Given the description of an element on the screen output the (x, y) to click on. 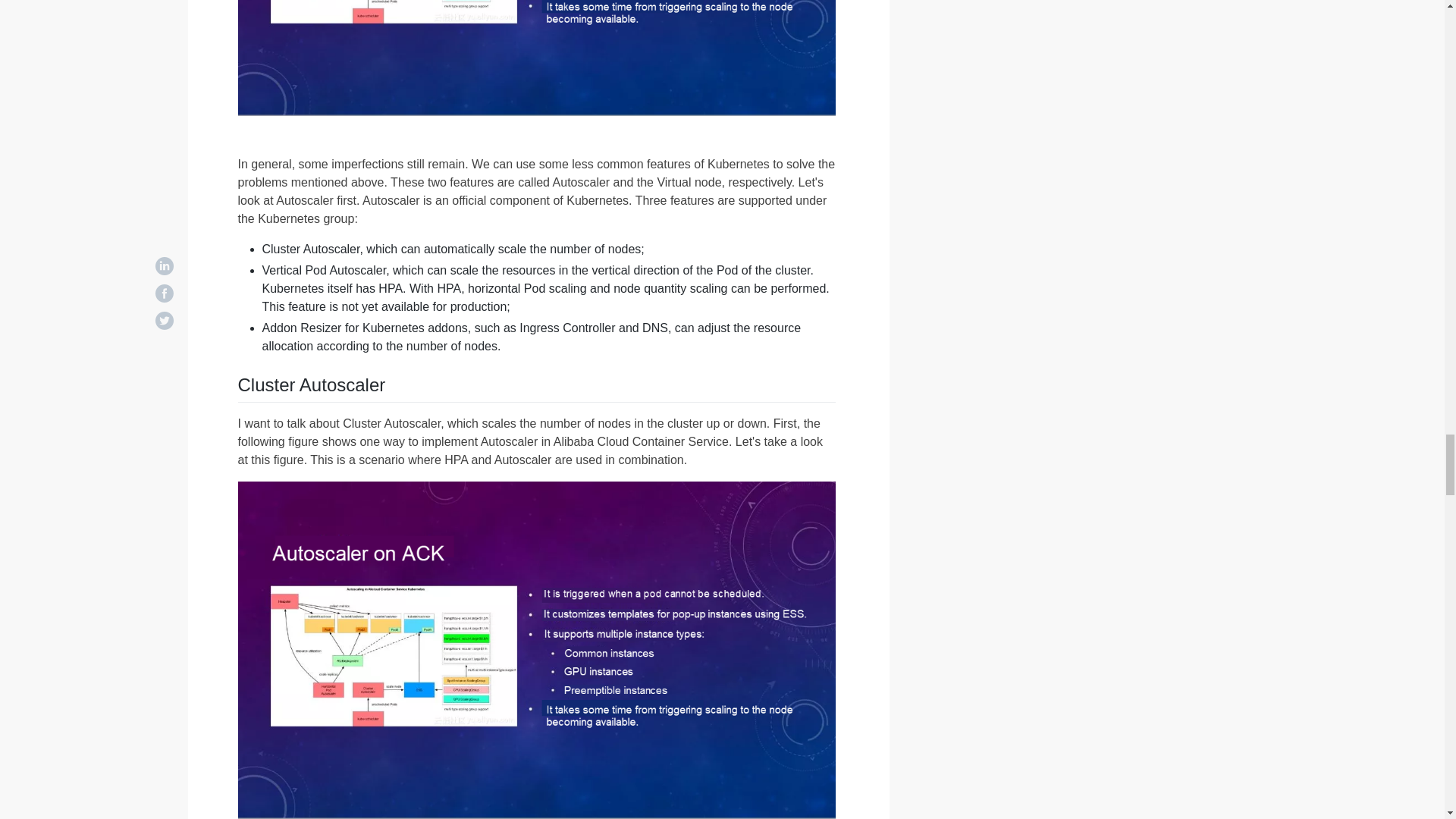
6 (536, 58)
